Given the description of an element on the screen output the (x, y) to click on. 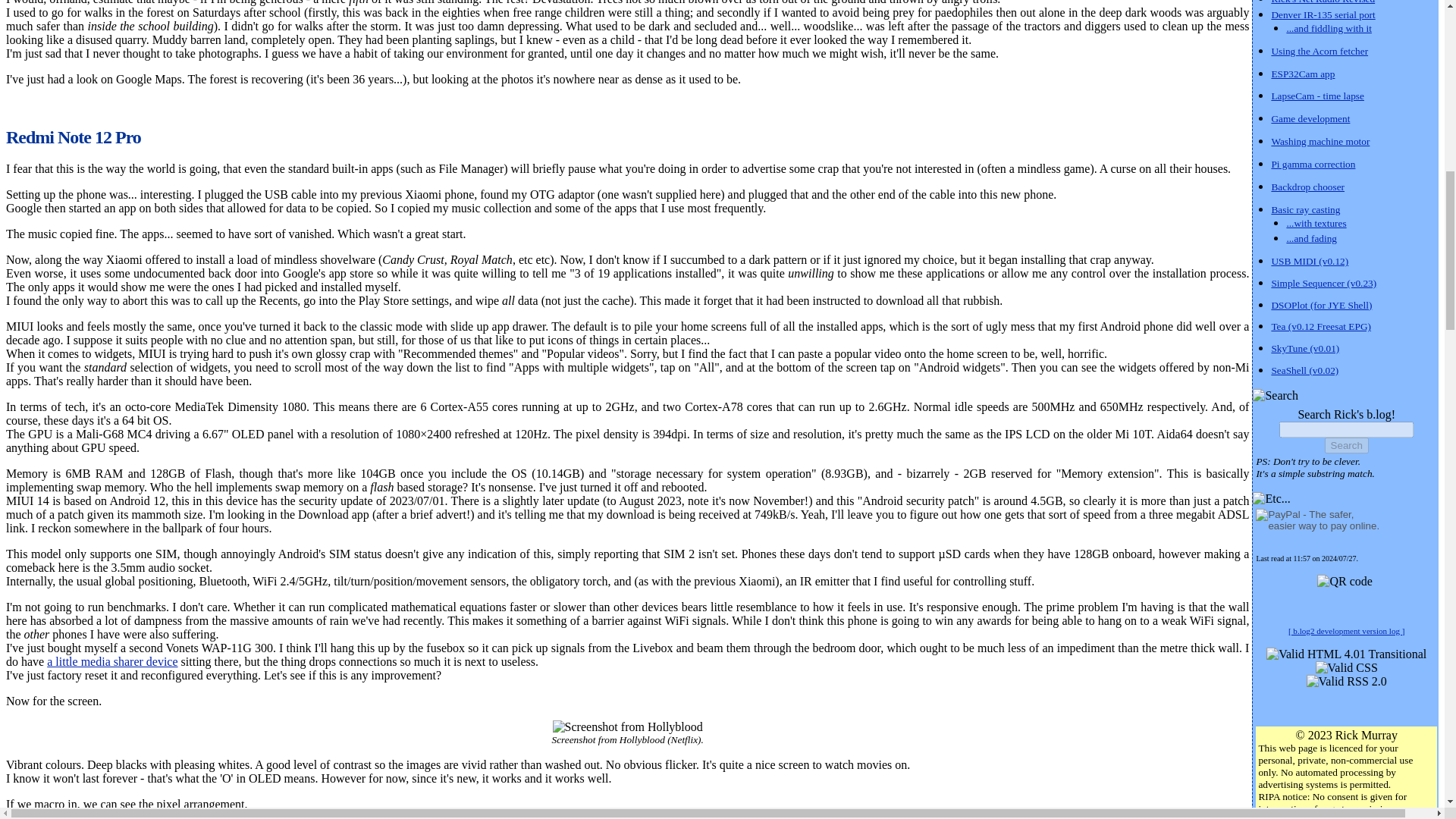
Search (1346, 445)
a little media sharer device (111, 661)
